Given the description of an element on the screen output the (x, y) to click on. 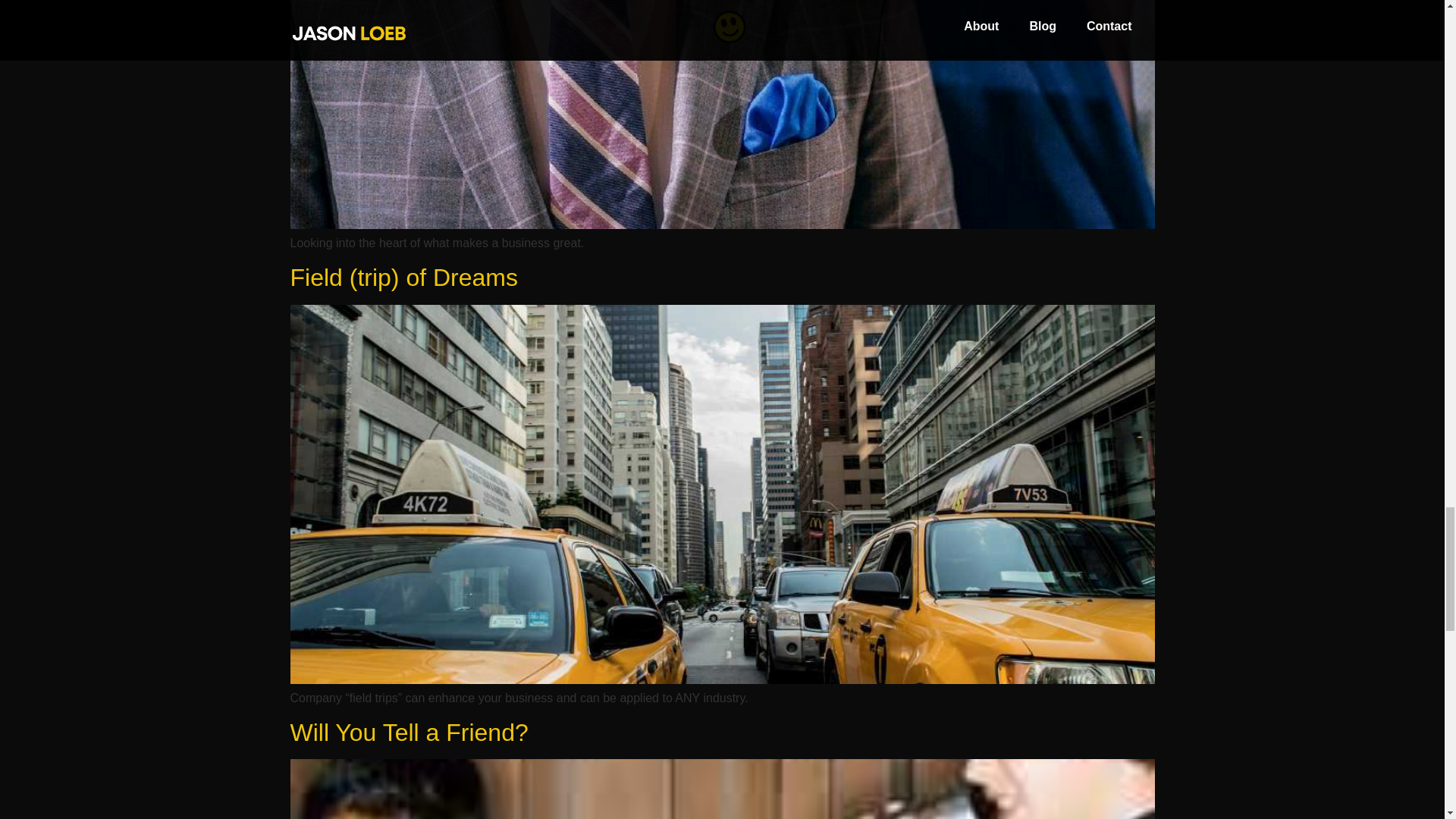
Will You Tell a Friend? (408, 732)
